Given the description of an element on the screen output the (x, y) to click on. 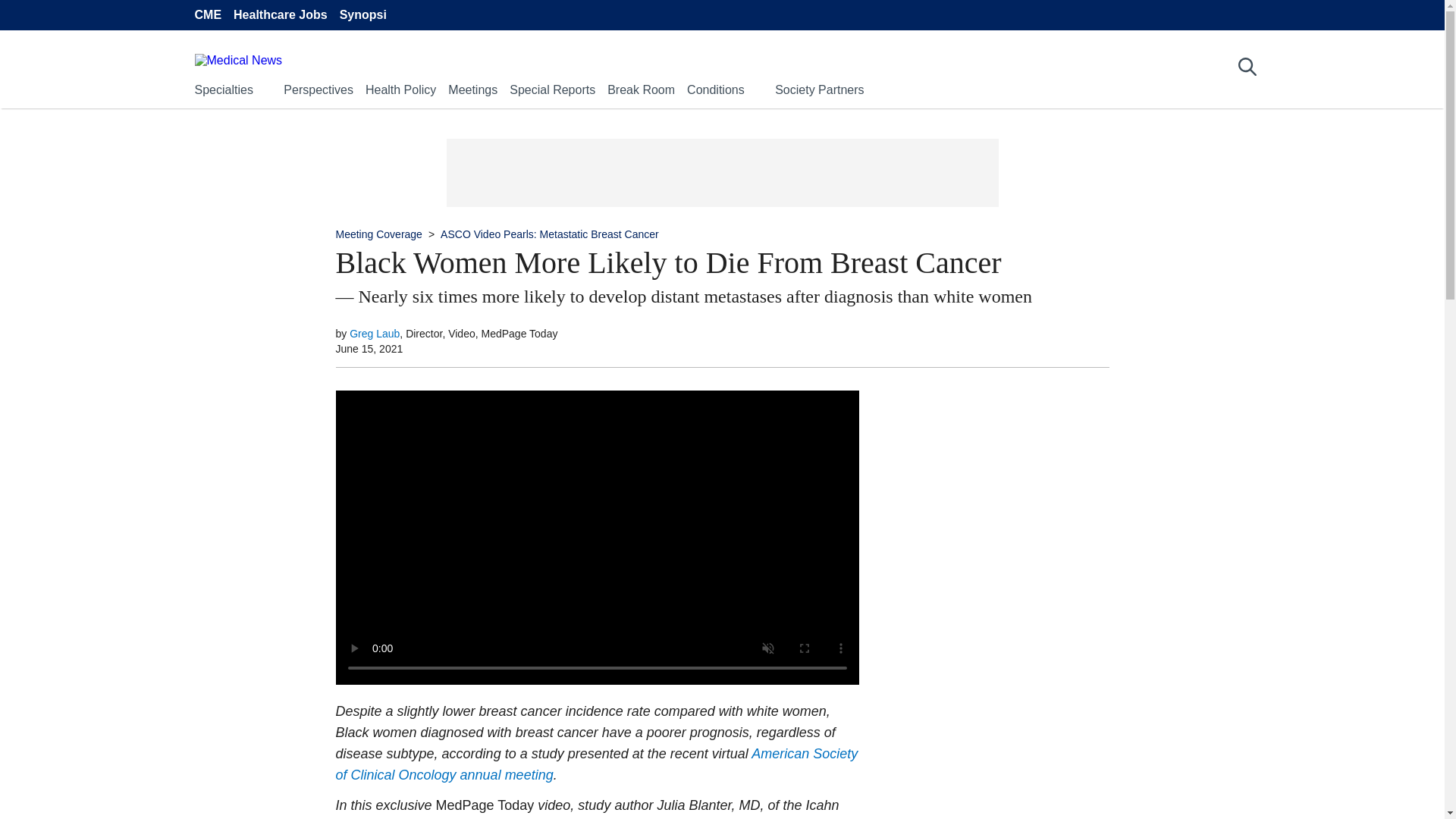
Healthcare Jobs (279, 15)
CME (207, 15)
Synopsi (363, 15)
Specialties (222, 89)
